Given the description of an element on the screen output the (x, y) to click on. 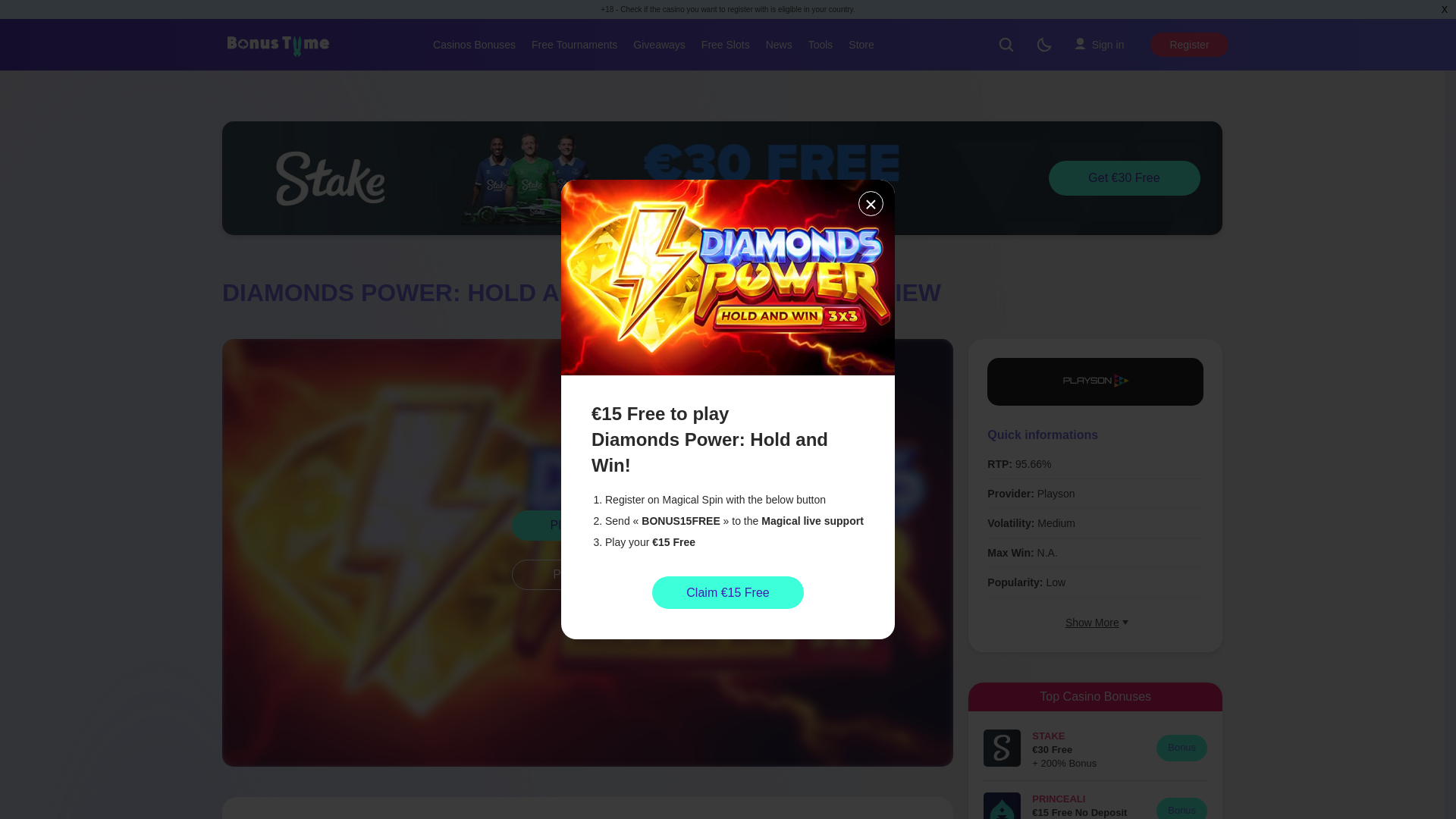
Casinos Bonuses (473, 43)
Free Tournaments (574, 43)
Sign in (1098, 43)
Register (1188, 43)
Giveaways (658, 43)
Free Slots (725, 43)
